Given the description of an element on the screen output the (x, y) to click on. 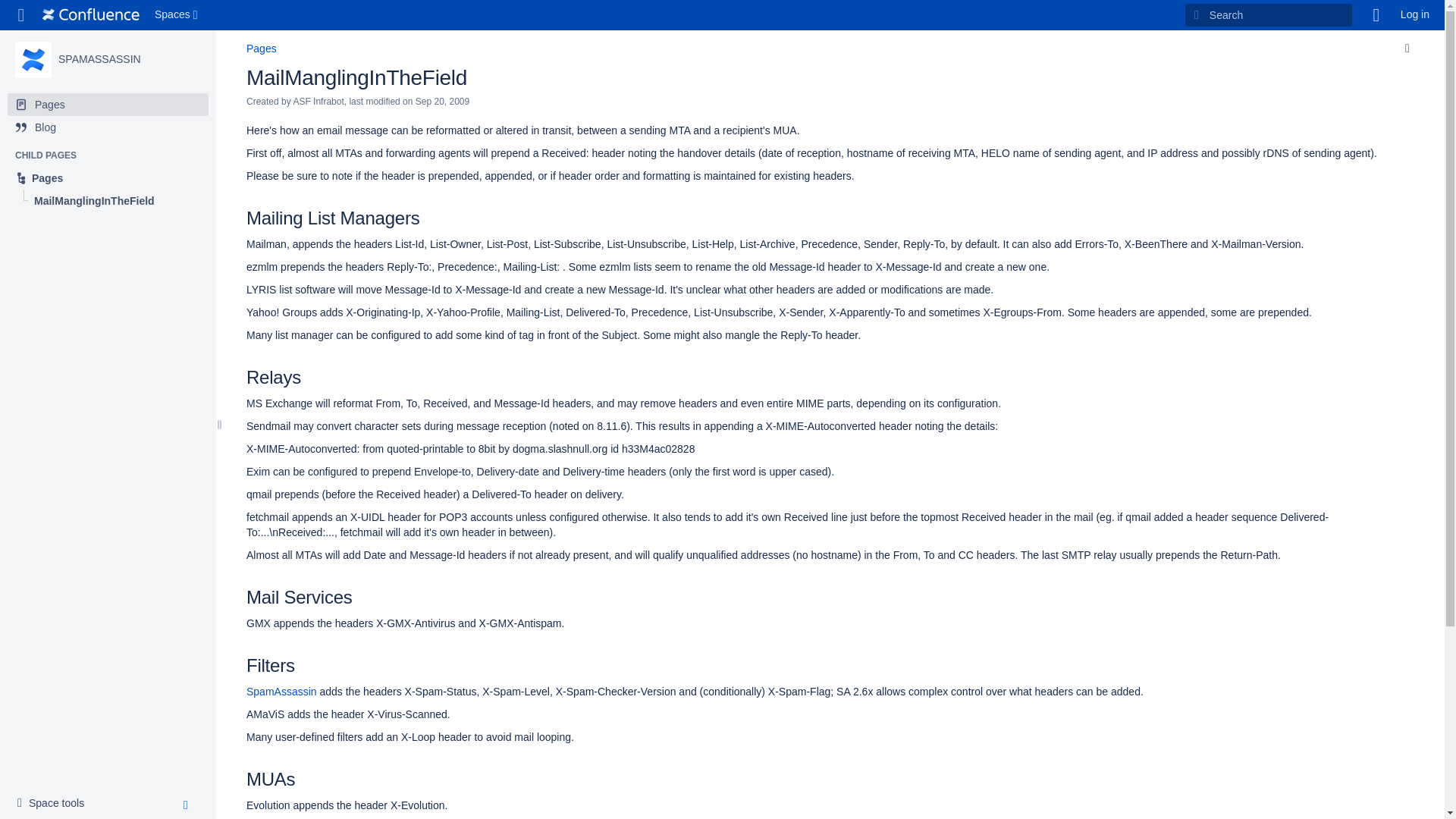
Spaces (177, 15)
Pages (107, 104)
Apache Software Foundation (90, 15)
MailManglingInTheField (356, 77)
Blog (107, 127)
Help (1376, 15)
Log in (1415, 15)
Spaces (177, 15)
SPAMASSASSIN (32, 59)
Linked Applications (20, 15)
